Given the description of an element on the screen output the (x, y) to click on. 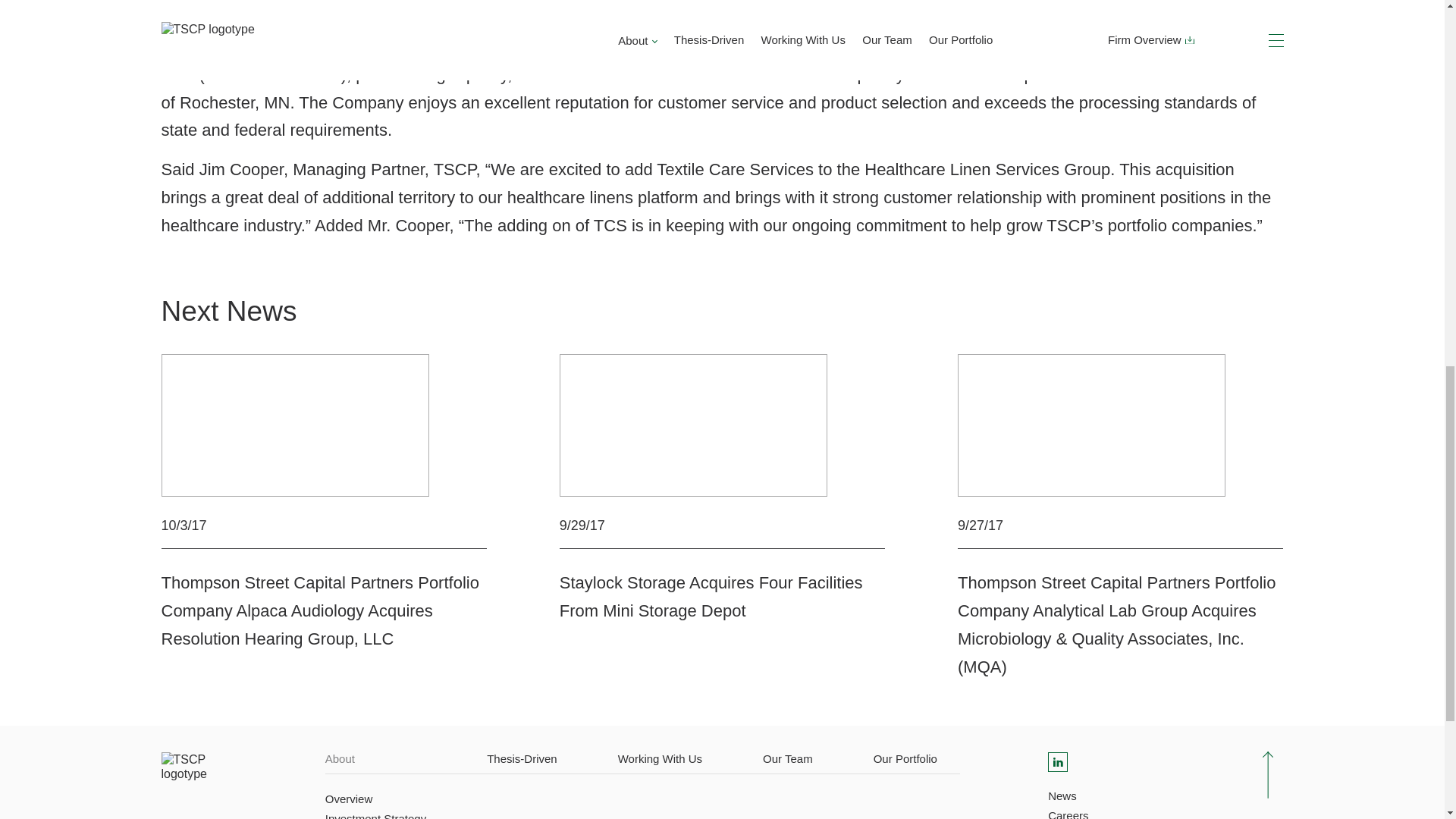
Thesis-Driven (521, 758)
Working With Us (659, 758)
Our Portfolio (905, 758)
Investment Strategy (375, 814)
Overview (348, 799)
Careers (1067, 812)
www.textilecs.com (272, 74)
News (1062, 795)
Our Team (787, 758)
